Given the description of an element on the screen output the (x, y) to click on. 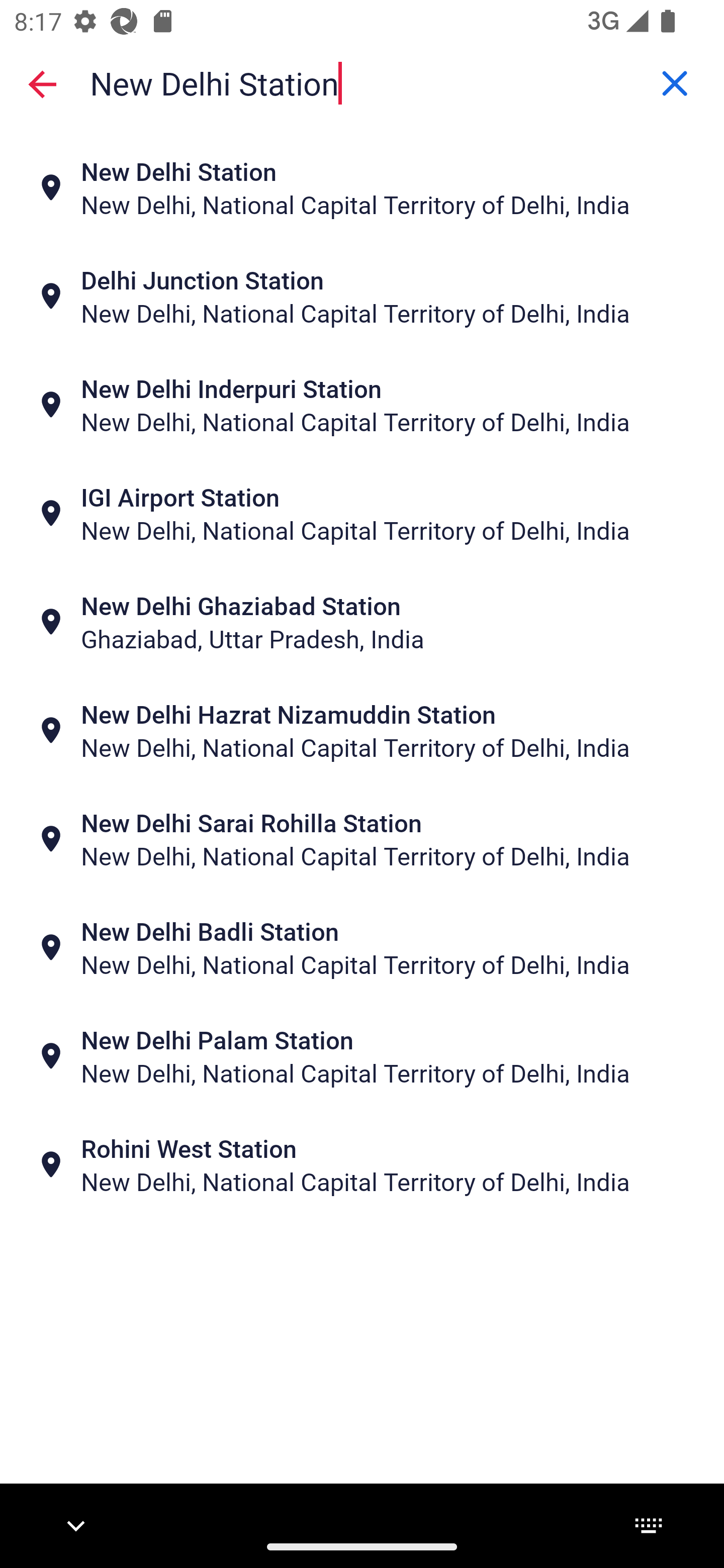
Clear Drop-off (674, 82)
Drop-off, New Delhi Station (361, 82)
Close search screen (41, 83)
